Given the description of an element on the screen output the (x, y) to click on. 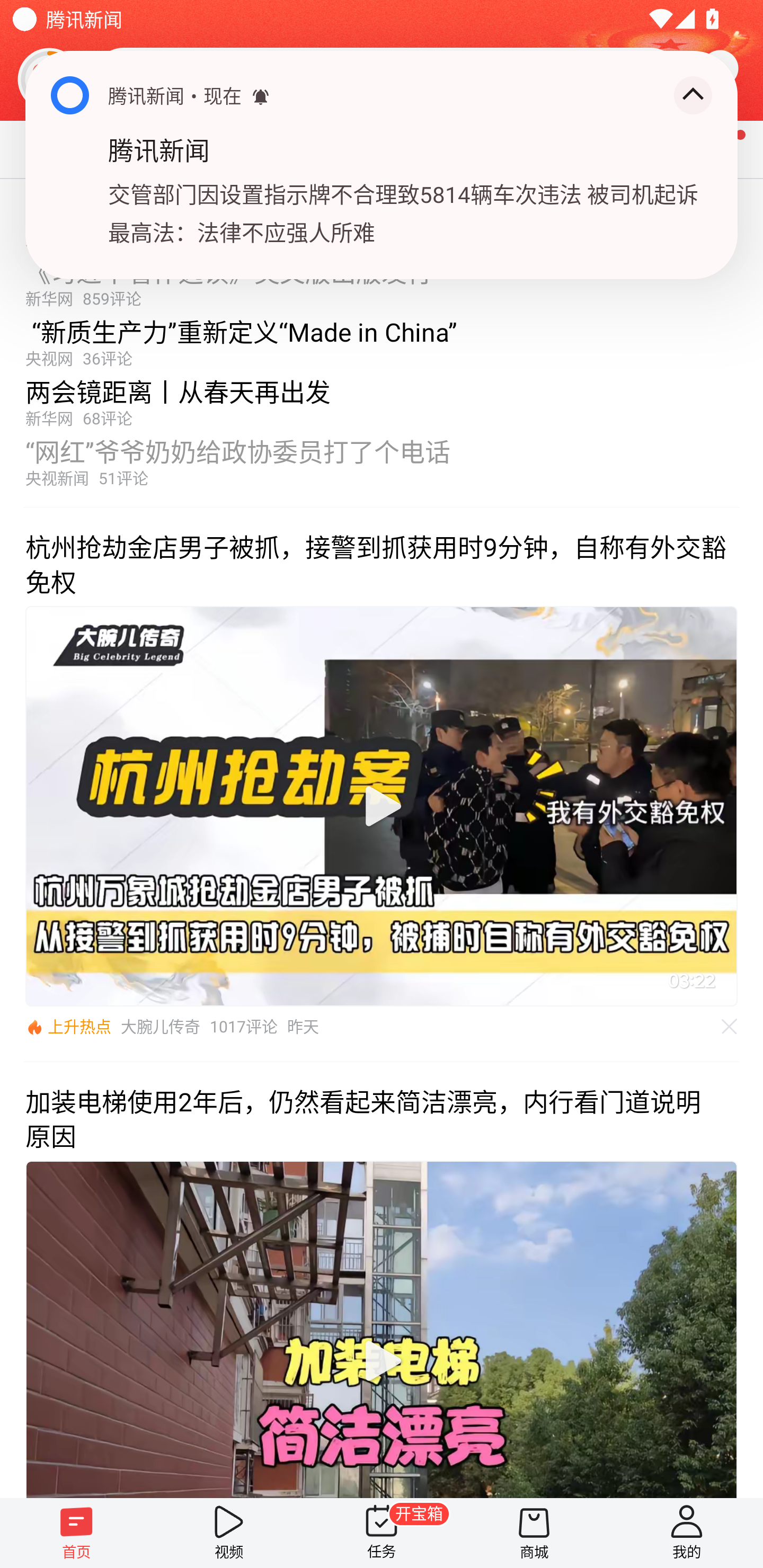
两会镜距离丨从春天再出发新华网68评论 文章 两会镜距离丨从春天再出发 新华网68评论 (381, 398)
播放视频 视频播放器，双击屏幕打开播放控制 (381, 805)
播放视频 (381, 806)
不感兴趣 (729, 1026)
播放视频 视频播放器，双击屏幕打开播放控制 (381, 1328)
播放视频 (381, 1360)
首页 (76, 1532)
视频 (228, 1532)
任务 开宝箱 (381, 1532)
商城 (533, 1532)
我的 (686, 1532)
